Given the description of an element on the screen output the (x, y) to click on. 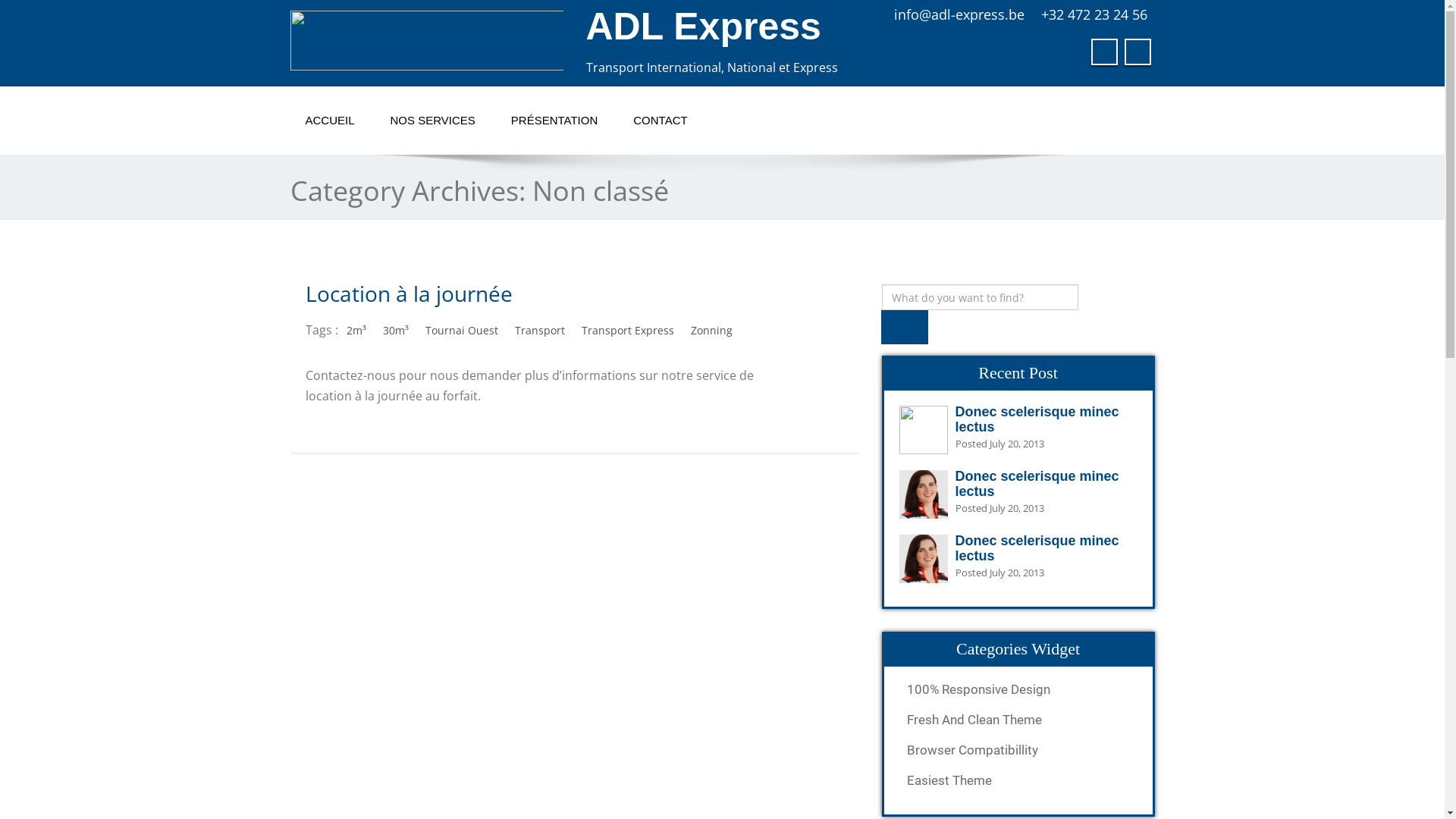
Transport Express Element type: text (627, 329)
Donec scelerisque minec lectus Element type: text (1037, 483)
ACCUEIL Element type: text (329, 120)
Zonning Element type: text (711, 329)
ADL Express Element type: text (702, 26)
CONTACT Element type: text (660, 120)
100% Responsive Design Element type: text (1018, 688)
Transport Element type: text (539, 329)
Donec scelerisque minec lectus Element type: text (1037, 419)
Fresh And Clean Theme Element type: text (1018, 719)
Donec scelerisque minec lectus Element type: text (1037, 548)
Tournai Ouest Element type: text (461, 329)
Easiest Theme Element type: text (1018, 779)
NOS SERVICES Element type: text (432, 120)
Browser Compatibillity Element type: text (1018, 749)
